Given the description of an element on the screen output the (x, y) to click on. 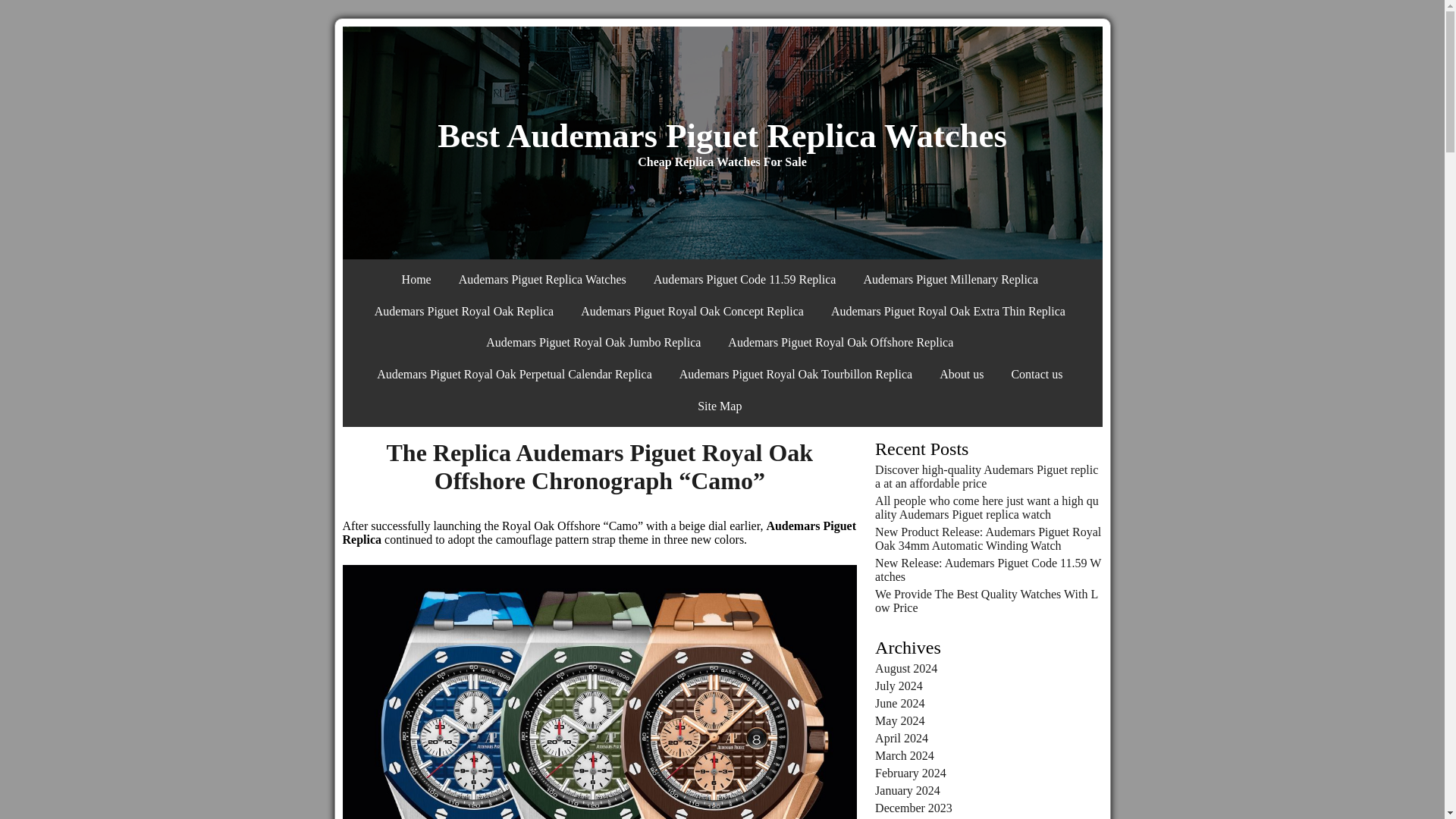
Audemars Piguet Royal Oak Jumbo Replica (593, 342)
February 2024 (910, 771)
Audemars Piguet Royal Oak Perpetual Calendar Replica (514, 374)
Audemars Piguet Royal Oak Extra Thin Replica (947, 311)
Site Map (719, 406)
July 2024 (899, 685)
Audemars Piguet Royal Oak Offshore Replica (840, 342)
Best Audemars Piguet Replica Watches (722, 135)
